Given the description of an element on the screen output the (x, y) to click on. 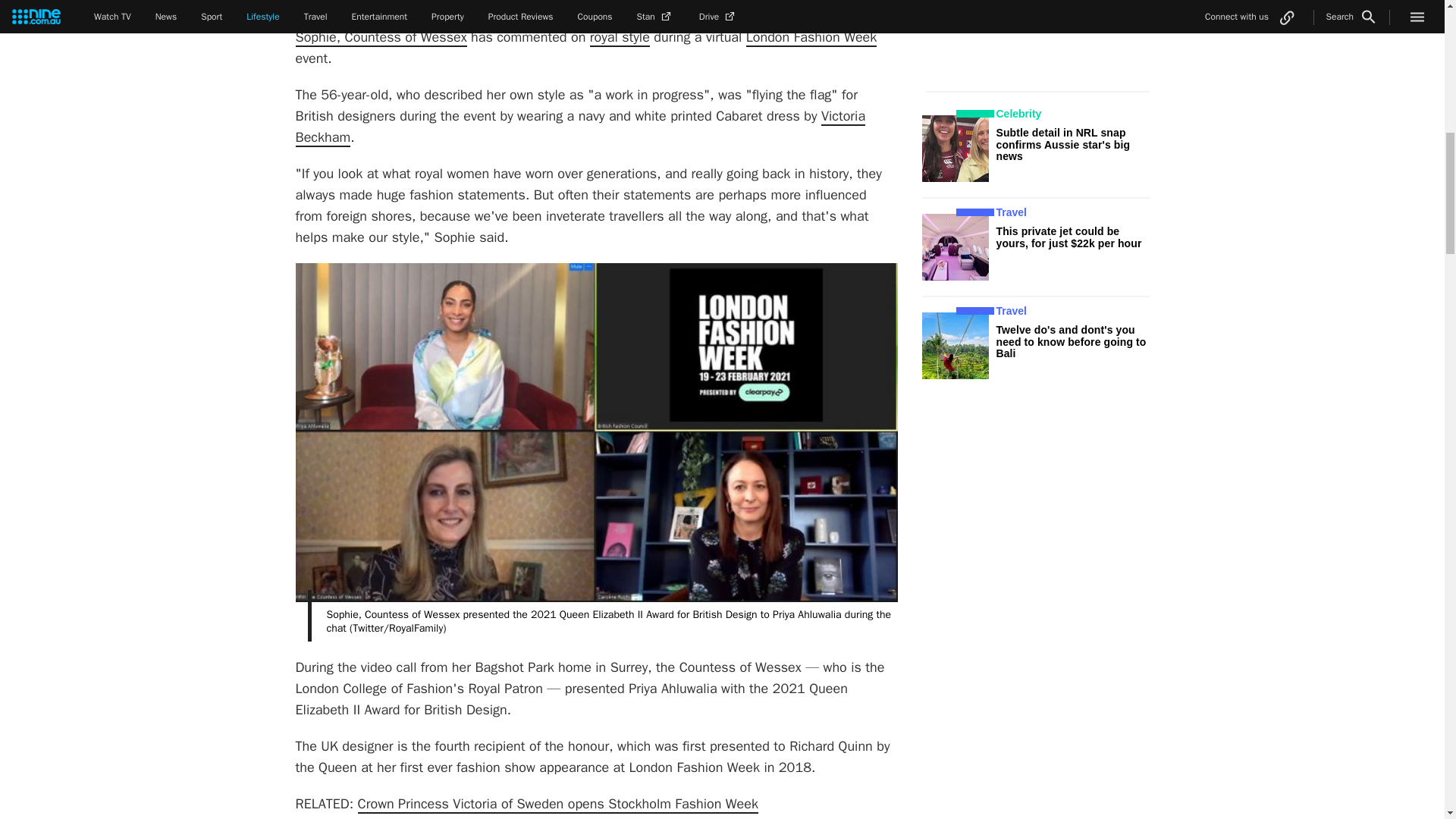
royal style (619, 37)
Sophie, Countess of Wessex (381, 37)
